Given the description of an element on the screen output the (x, y) to click on. 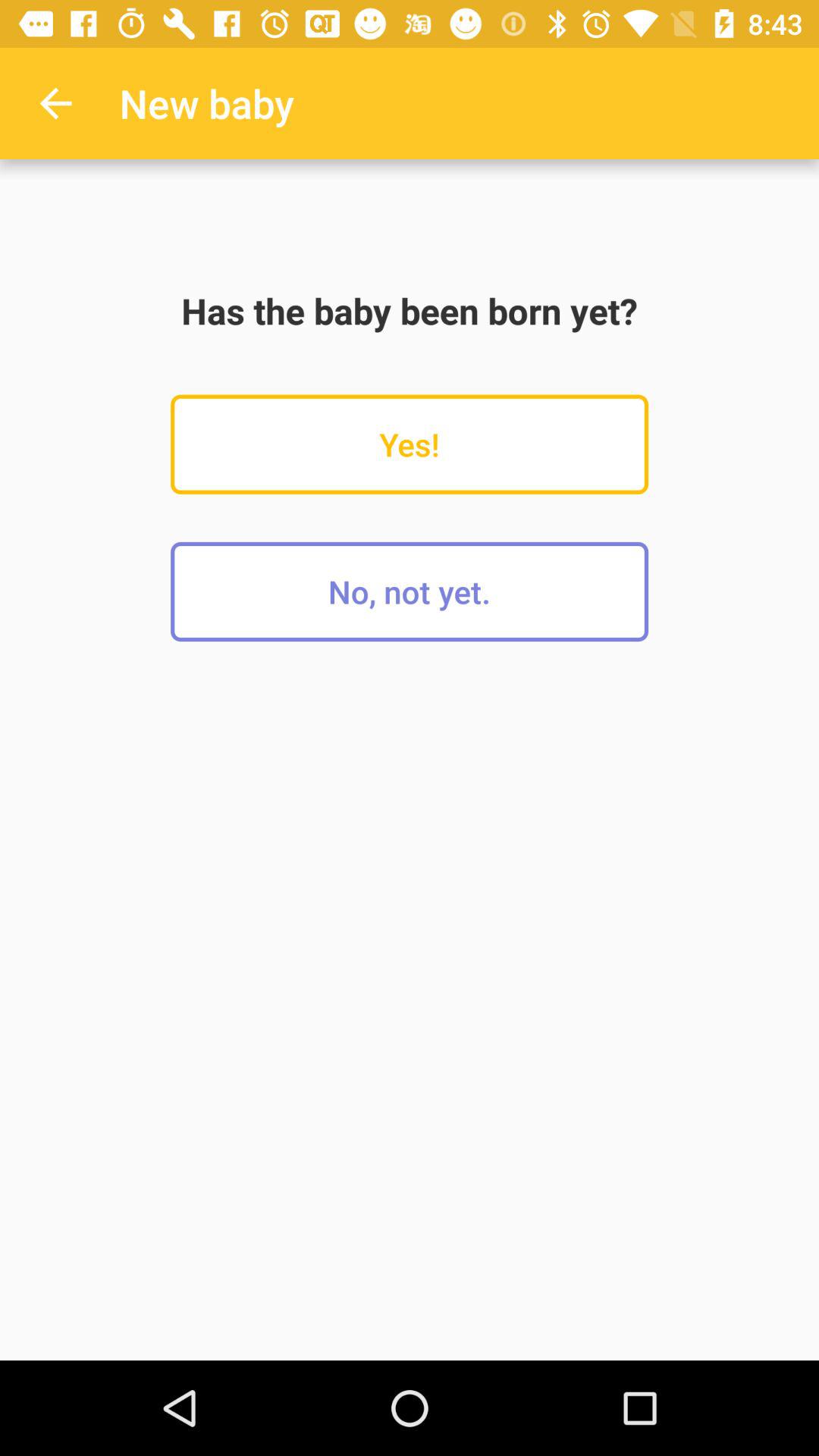
scroll until the yes! item (409, 444)
